Given the description of an element on the screen output the (x, y) to click on. 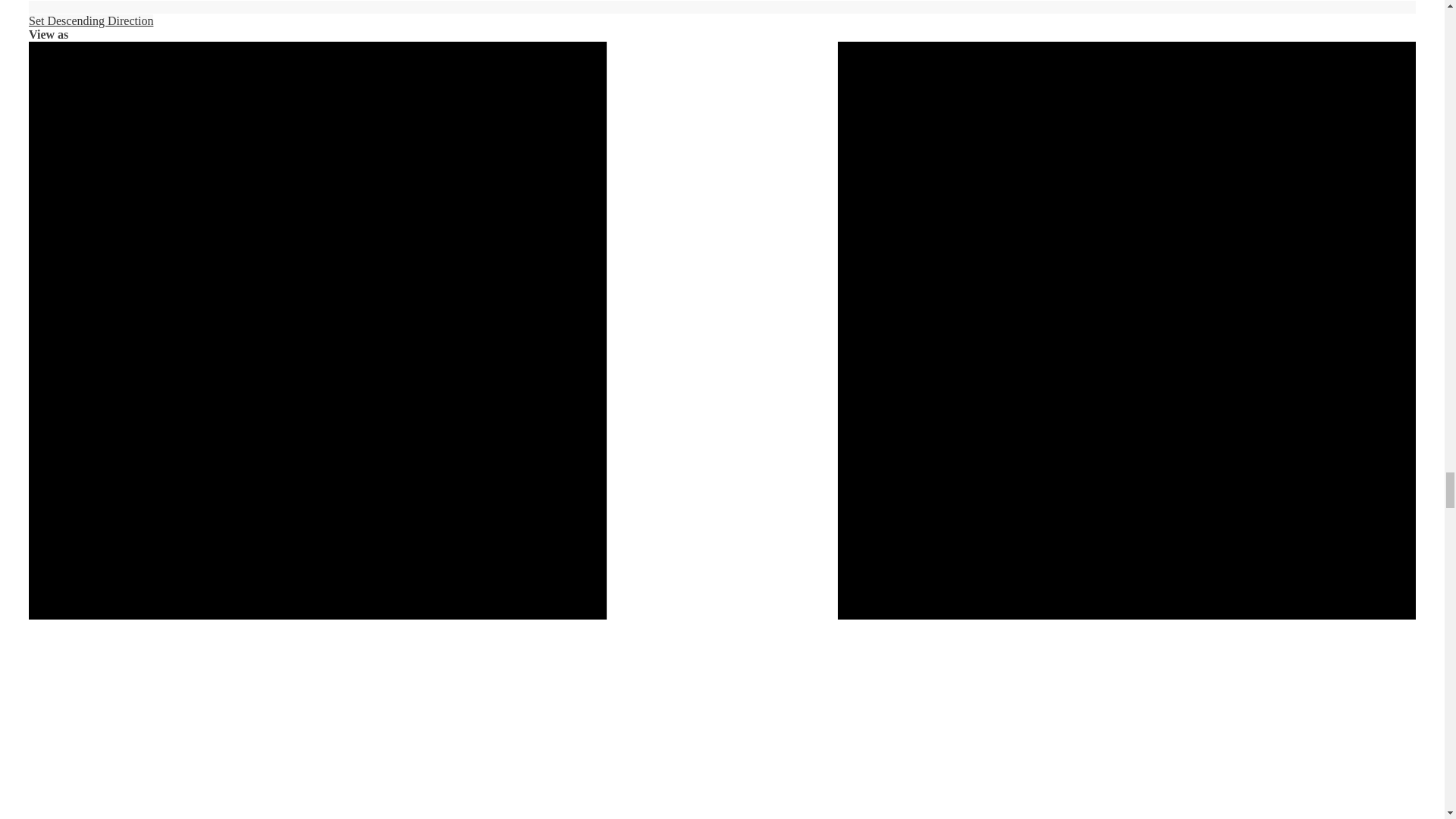
Set Descending Direction (722, 13)
